Given the description of an element on the screen output the (x, y) to click on. 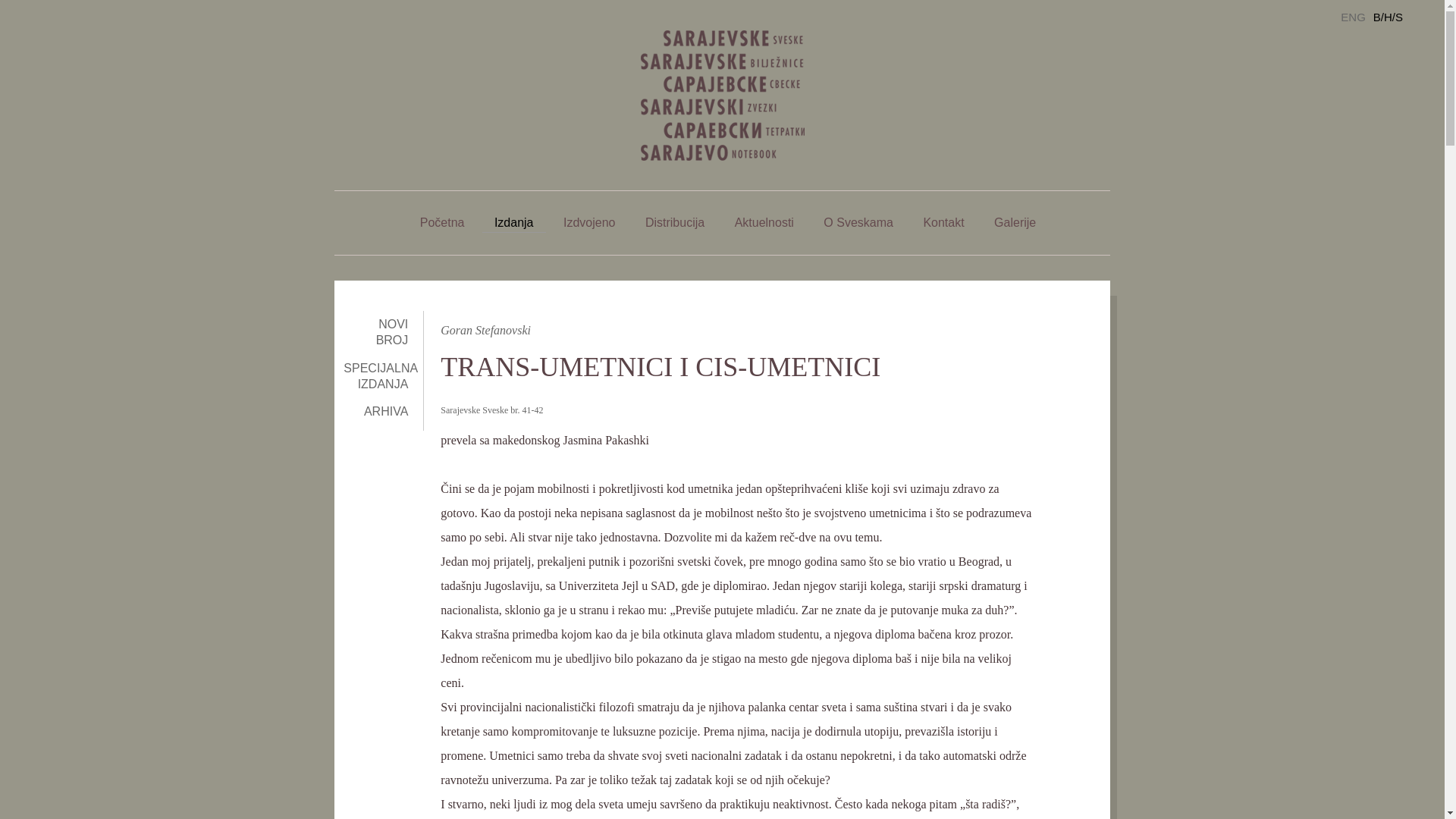
B/H/S Element type: text (1387, 16)
SPECIJALNA IZDANJA Element type: text (380, 375)
O Sveskama Element type: text (858, 222)
Sarajevske Sveske br. 41-42 Element type: text (491, 409)
Izdanja Element type: text (514, 222)
Aktuelnosti Element type: text (764, 222)
Distribucija Element type: text (674, 222)
NOVI BROJ Element type: text (392, 331)
Kontakt Element type: text (942, 222)
Search Element type: text (1420, 20)
Galerije Element type: text (1015, 222)
ARHIVA Element type: text (385, 410)
ENG Element type: text (1352, 16)
Izdvojeno Element type: text (589, 222)
Sveske logo Element type: hover (721, 95)
Goran Stefanovski Element type: text (485, 329)
